Given the description of an element on the screen output the (x, y) to click on. 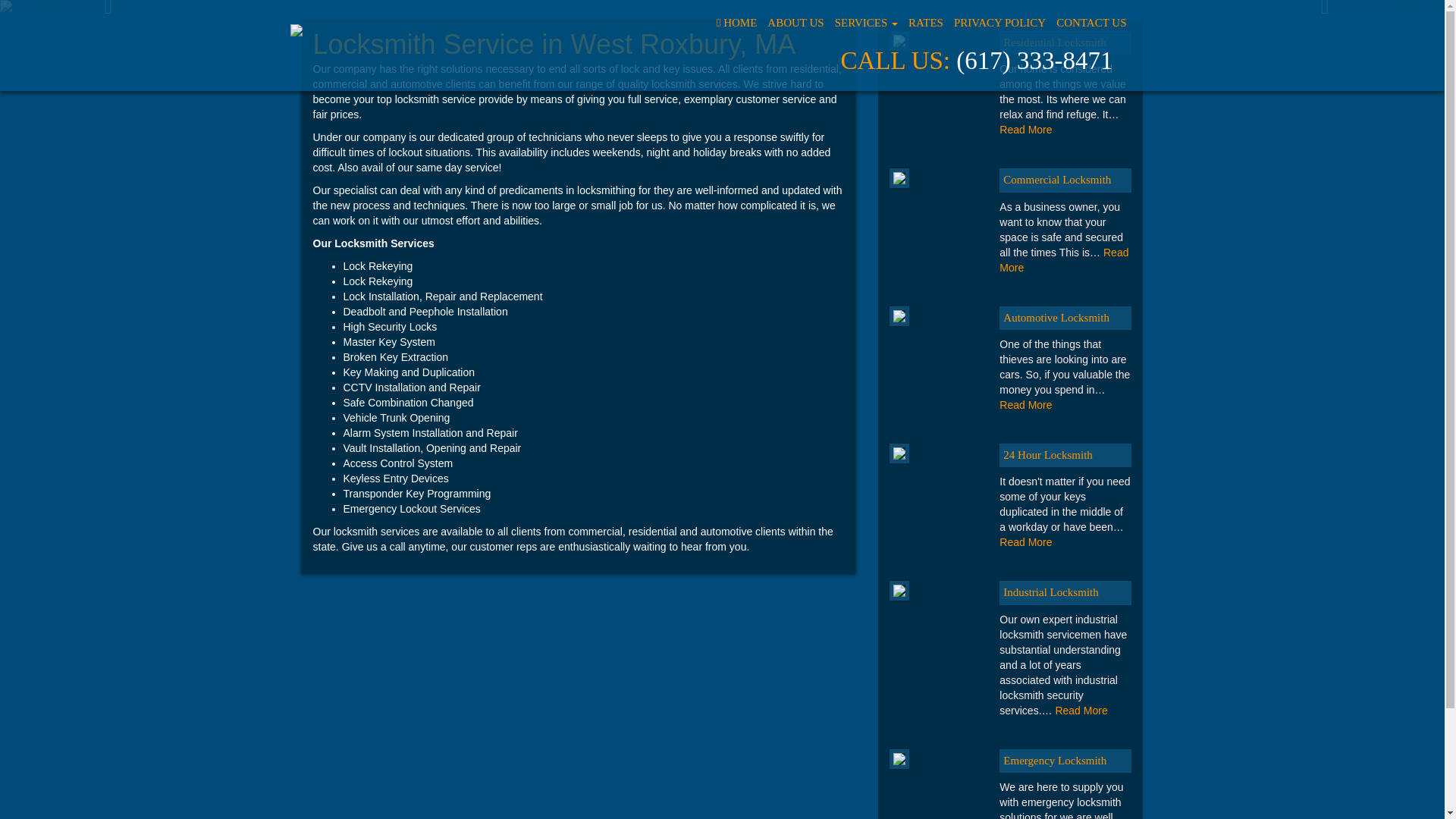
Read More (1024, 404)
SERVICES (865, 22)
CONTACT US (1091, 22)
ABOUT US (794, 22)
RATES (925, 22)
Read More (1024, 129)
HOME (736, 22)
Read More (1080, 710)
PRIVACY POLICY (1000, 22)
Read More (1024, 541)
Read More (1063, 259)
